Given the description of an element on the screen output the (x, y) to click on. 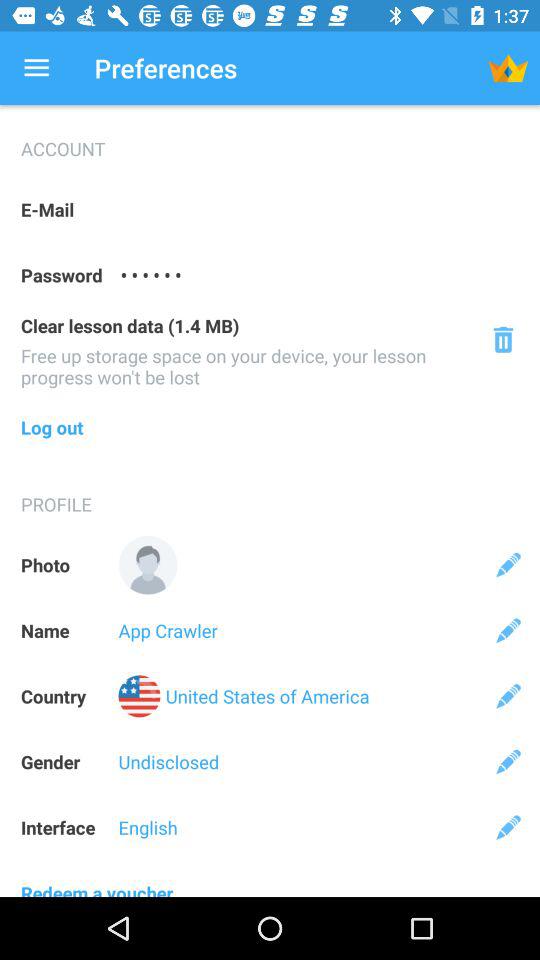
edit the photo (508, 564)
